Given the description of an element on the screen output the (x, y) to click on. 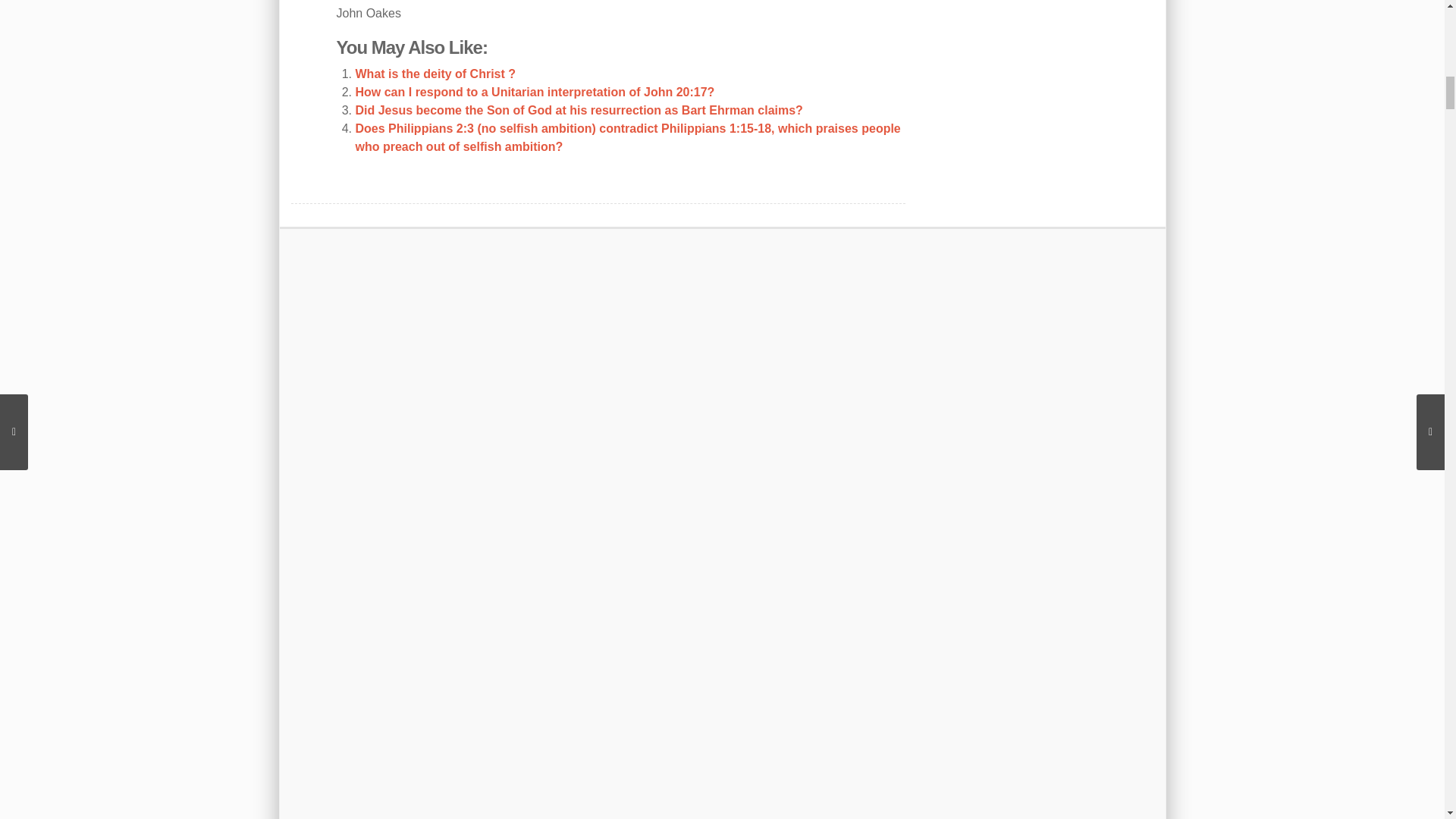
What is the deity of Christ ? (435, 73)
